Given the description of an element on the screen output the (x, y) to click on. 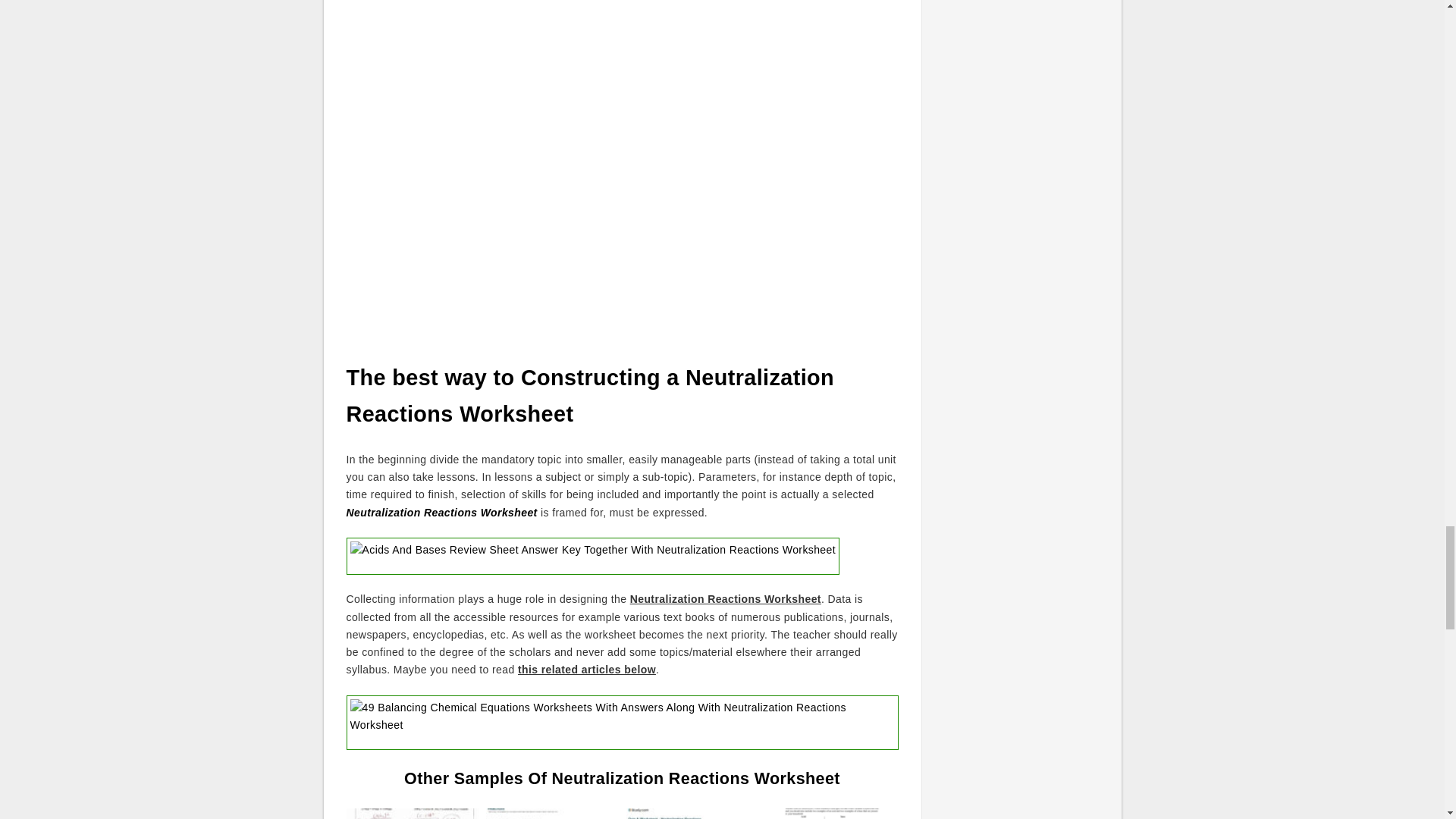
Neutralization Reactions Worksheet (441, 512)
